Given the description of an element on the screen output the (x, y) to click on. 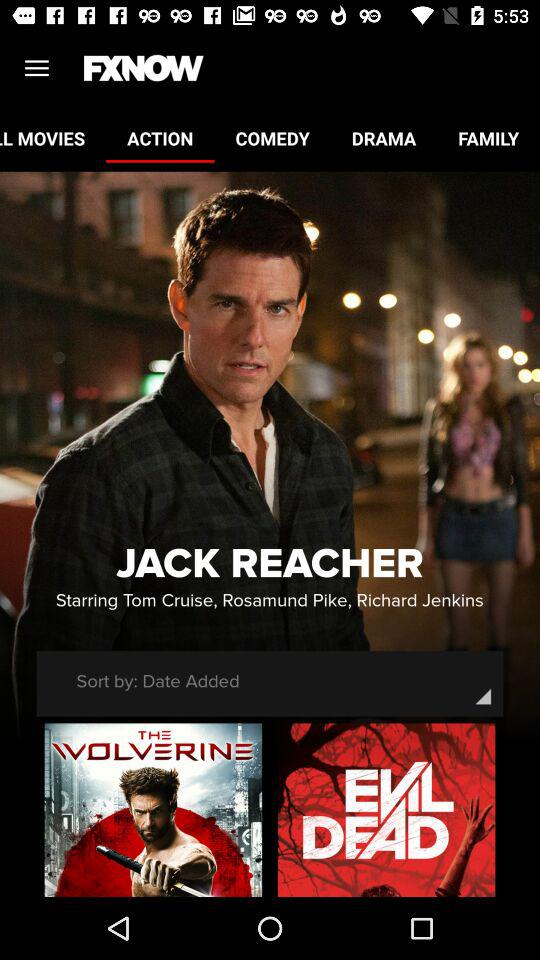
turn on the item to the left of the drama item (272, 138)
